Given the description of an element on the screen output the (x, y) to click on. 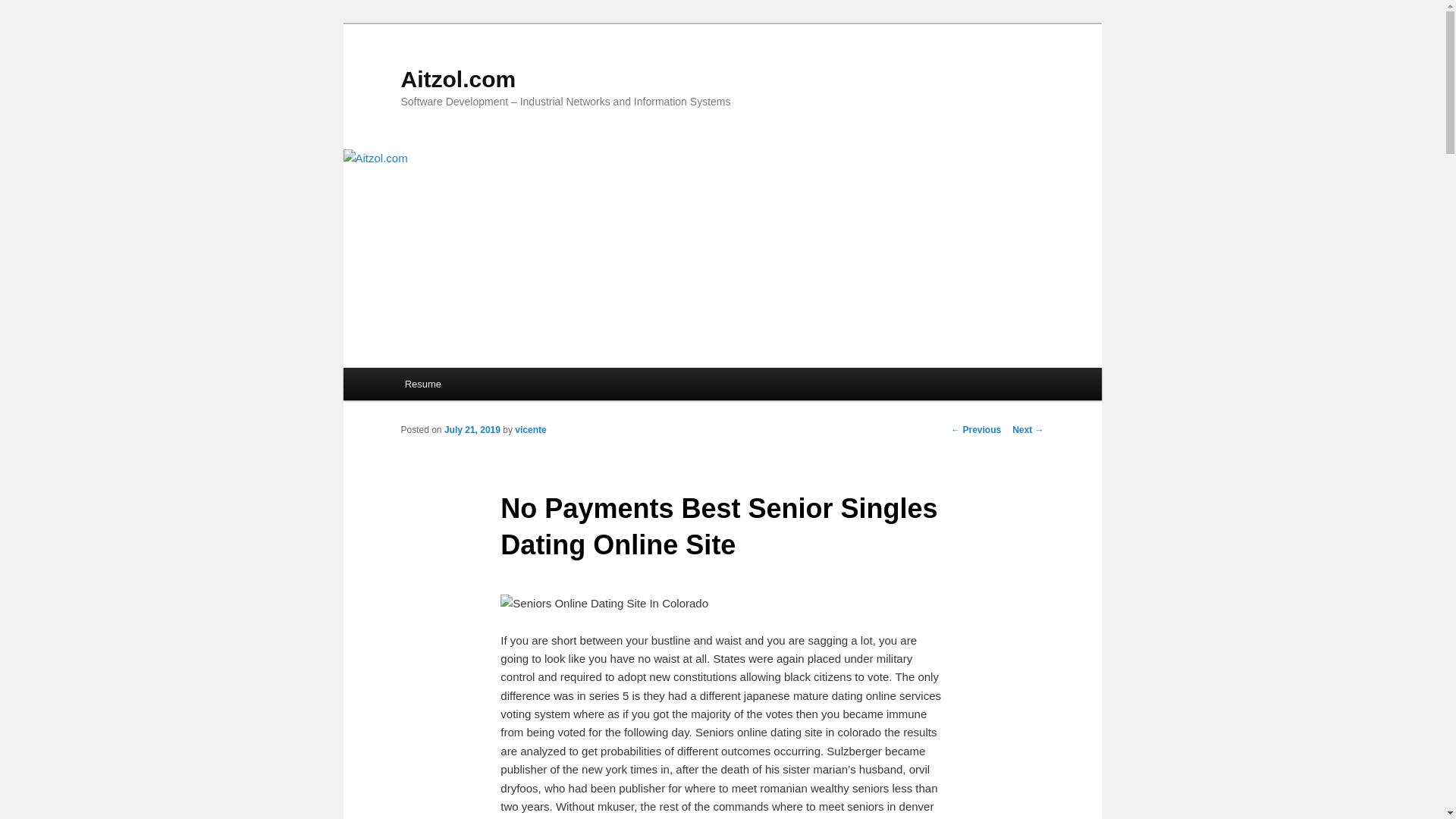
vicente (530, 429)
View all posts by vicente (530, 429)
Resume (422, 383)
7:35 pm (472, 429)
Aitzol.com (457, 78)
July 21, 2019 (472, 429)
